Given the description of an element on the screen output the (x, y) to click on. 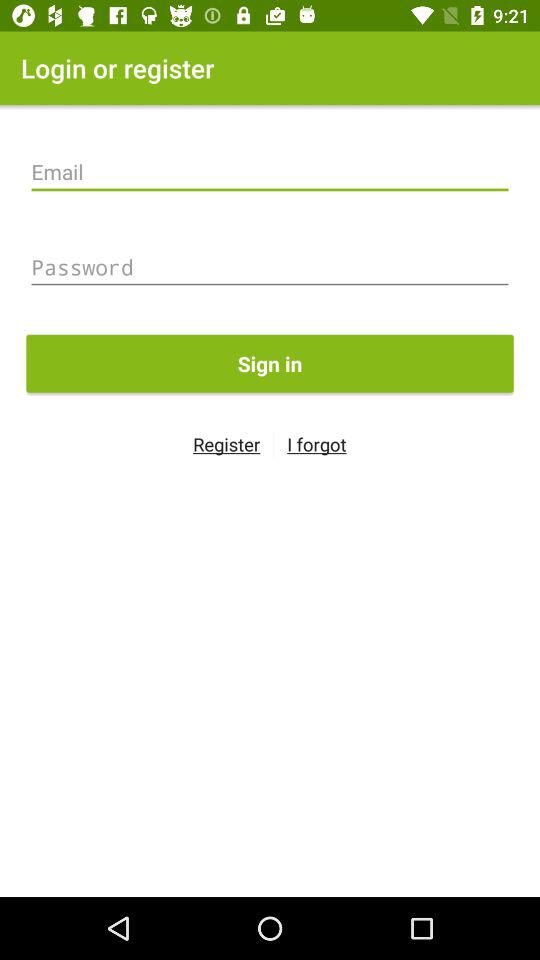
turn on icon above register icon (269, 363)
